Given the description of an element on the screen output the (x, y) to click on. 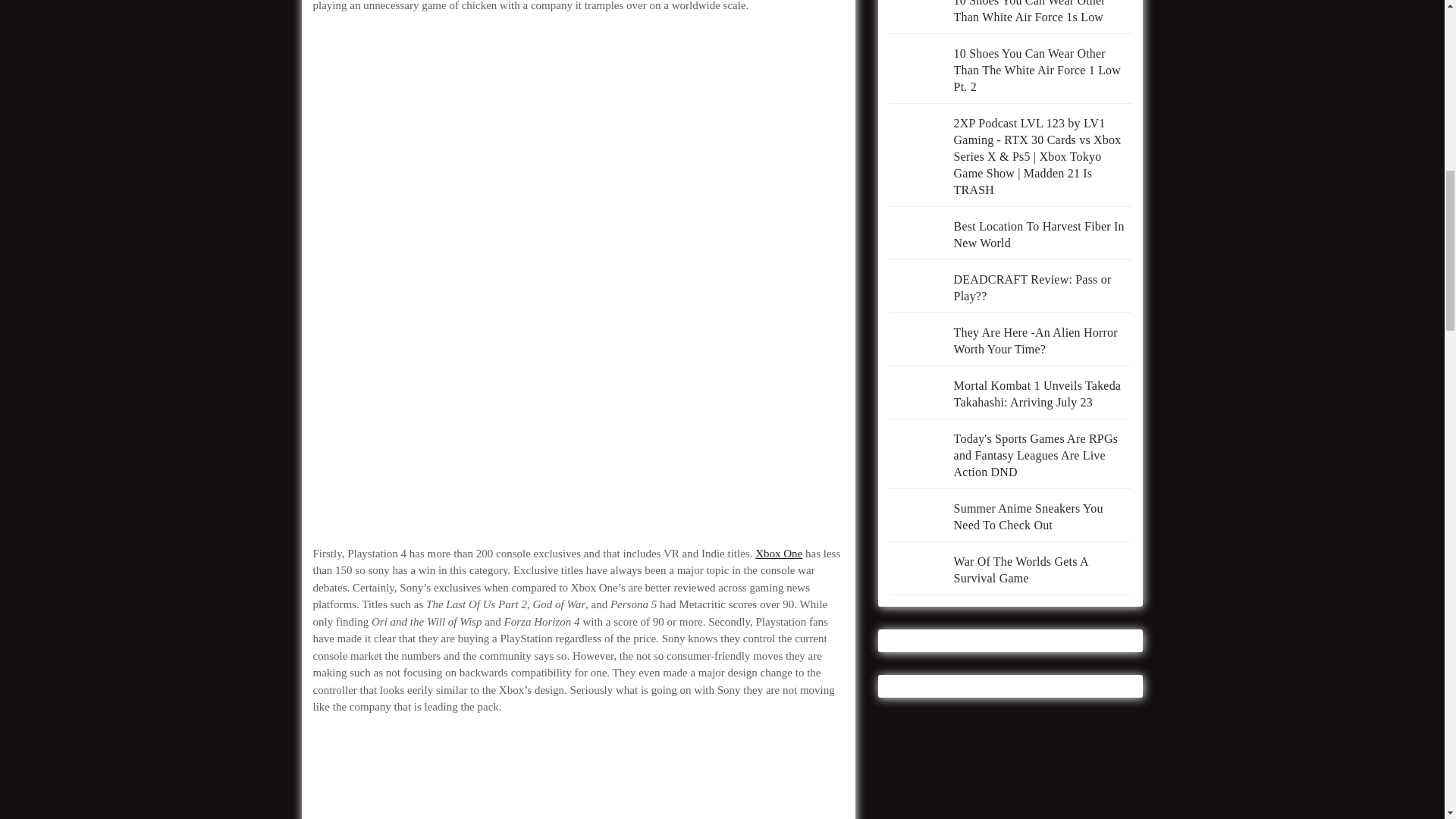
Xbox One (778, 553)
Best Location To Harvest Fiber In New World (1038, 234)
10 Shoes You Can Wear Other Than White Air Force 1s Low (1029, 11)
